Given the description of an element on the screen output the (x, y) to click on. 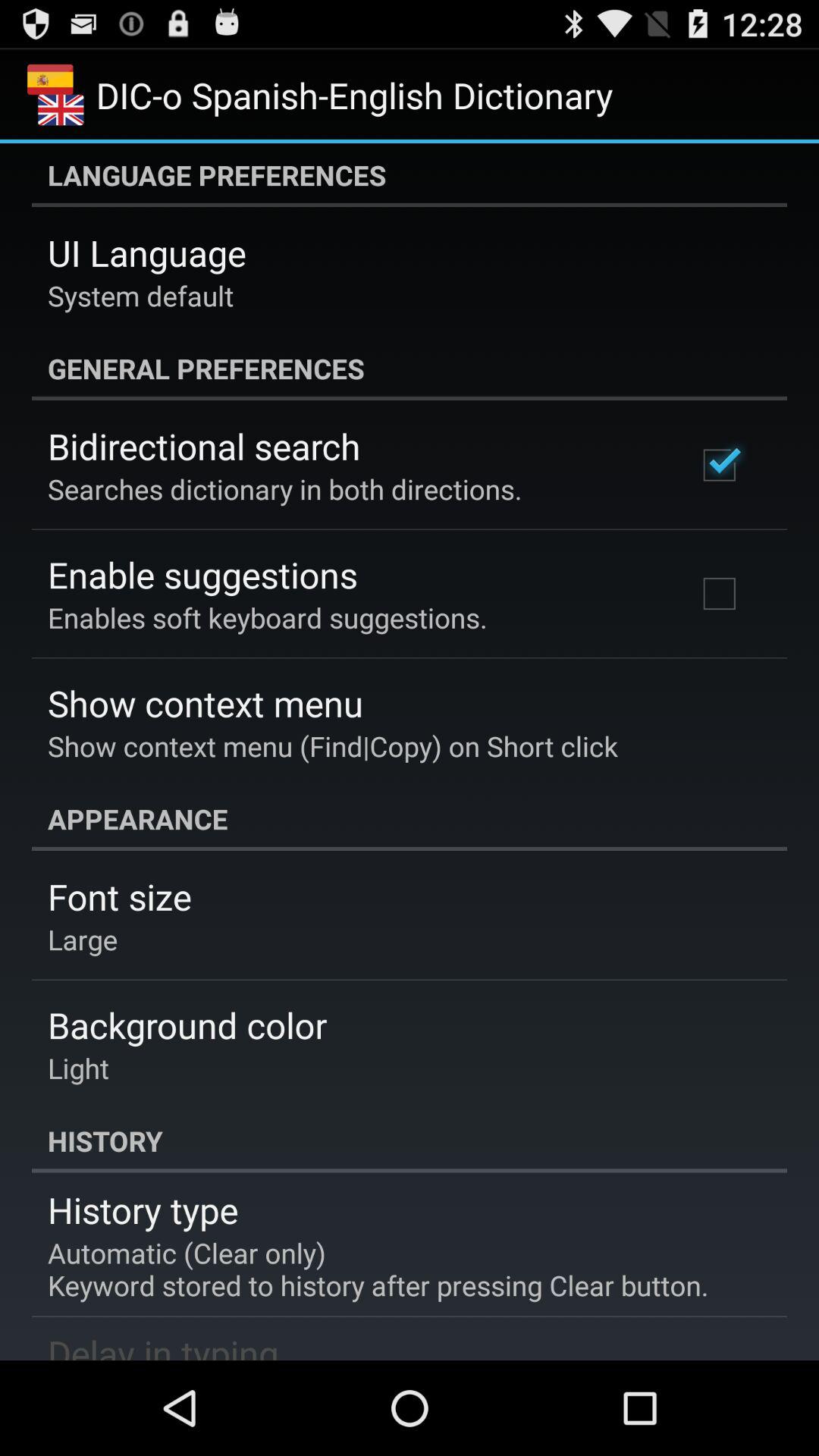
tap the app below system default app (409, 368)
